Given the description of an element on the screen output the (x, y) to click on. 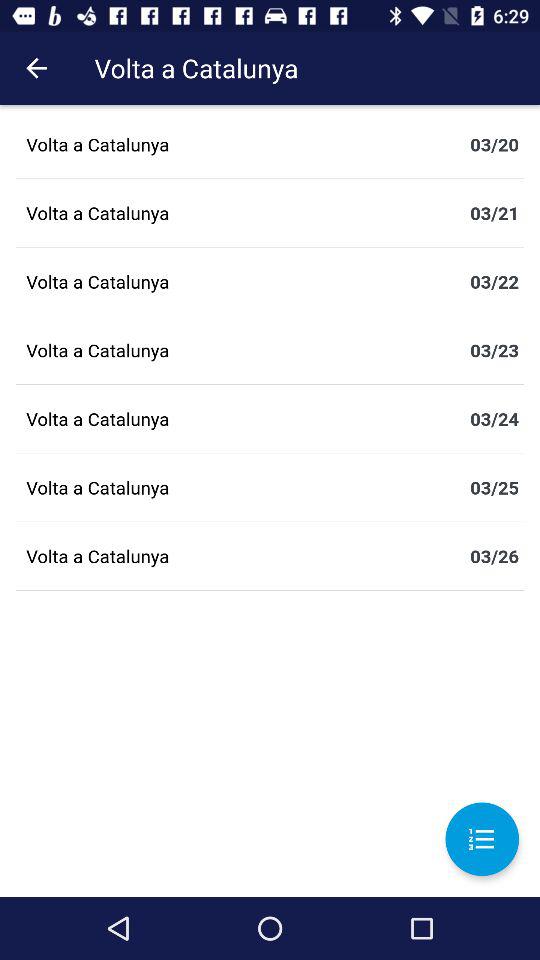
turn on the icon at the top left corner (36, 68)
